Given the description of an element on the screen output the (x, y) to click on. 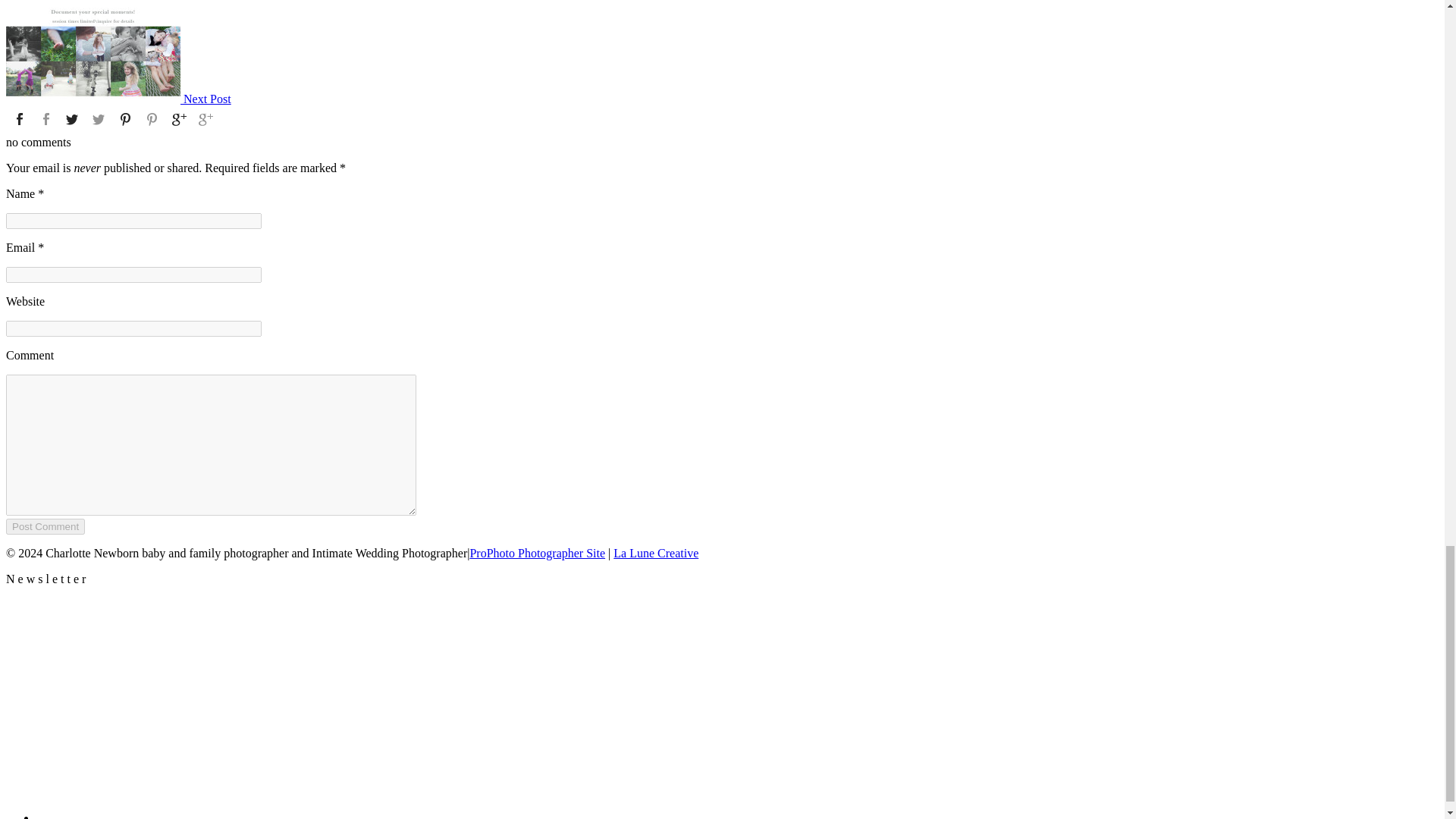
La Lune Creative (655, 553)
Post Comment (44, 525)
ProPhoto Photography Template (536, 553)
ProPhoto Photographer Site (536, 553)
no comments (38, 141)
Post Comment (44, 525)
